Given the description of an element on the screen output the (x, y) to click on. 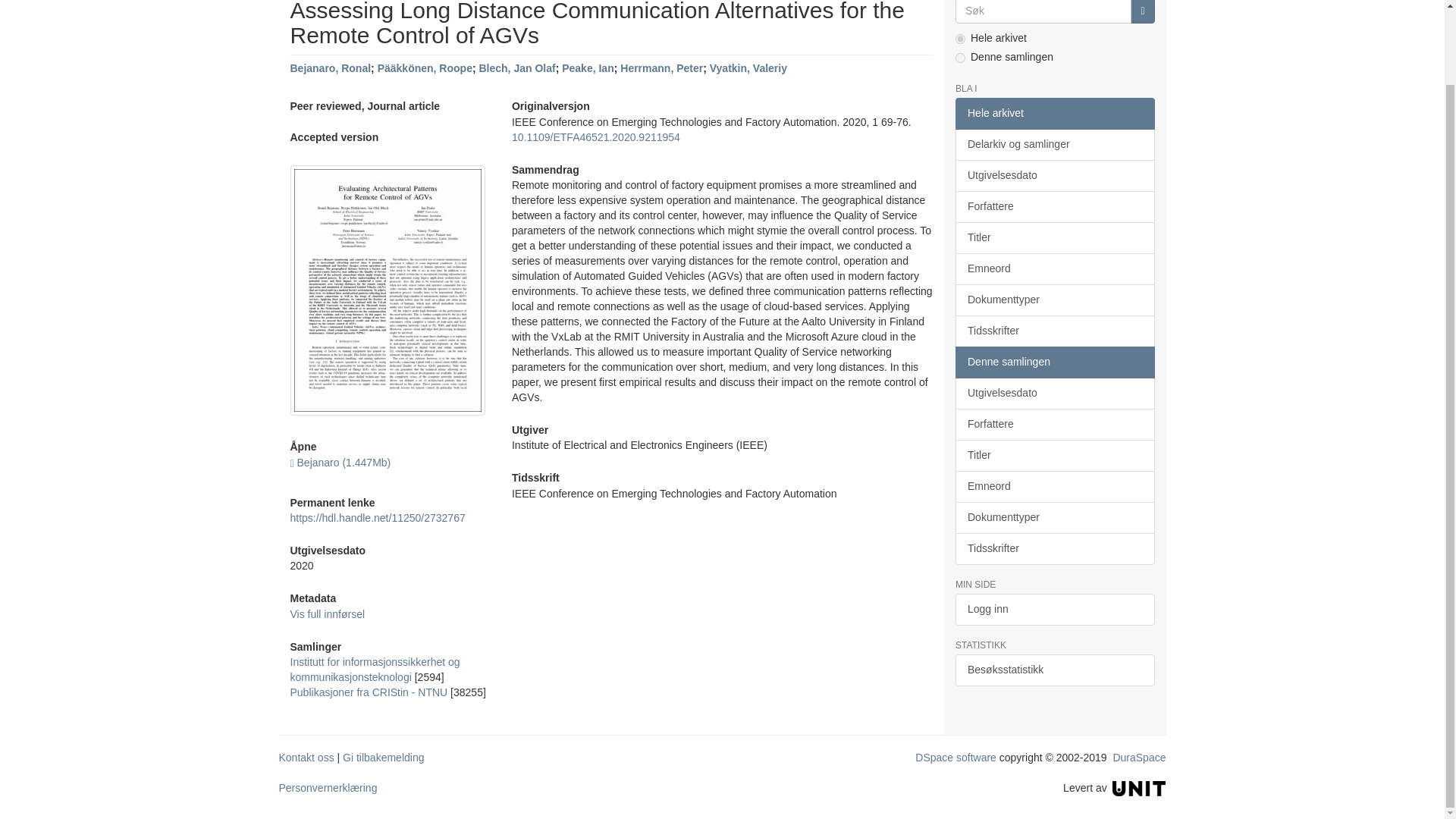
Blech, Jan Olaf (516, 68)
Bejanaro, Ronal (330, 68)
Hele arkivet (1054, 113)
Peake, Ian (588, 68)
Publikasjoner fra CRIStin - NTNU (367, 692)
Herrmann, Peter (661, 68)
Unit (1139, 787)
Vyatkin, Valeriy (748, 68)
